Given the description of an element on the screen output the (x, y) to click on. 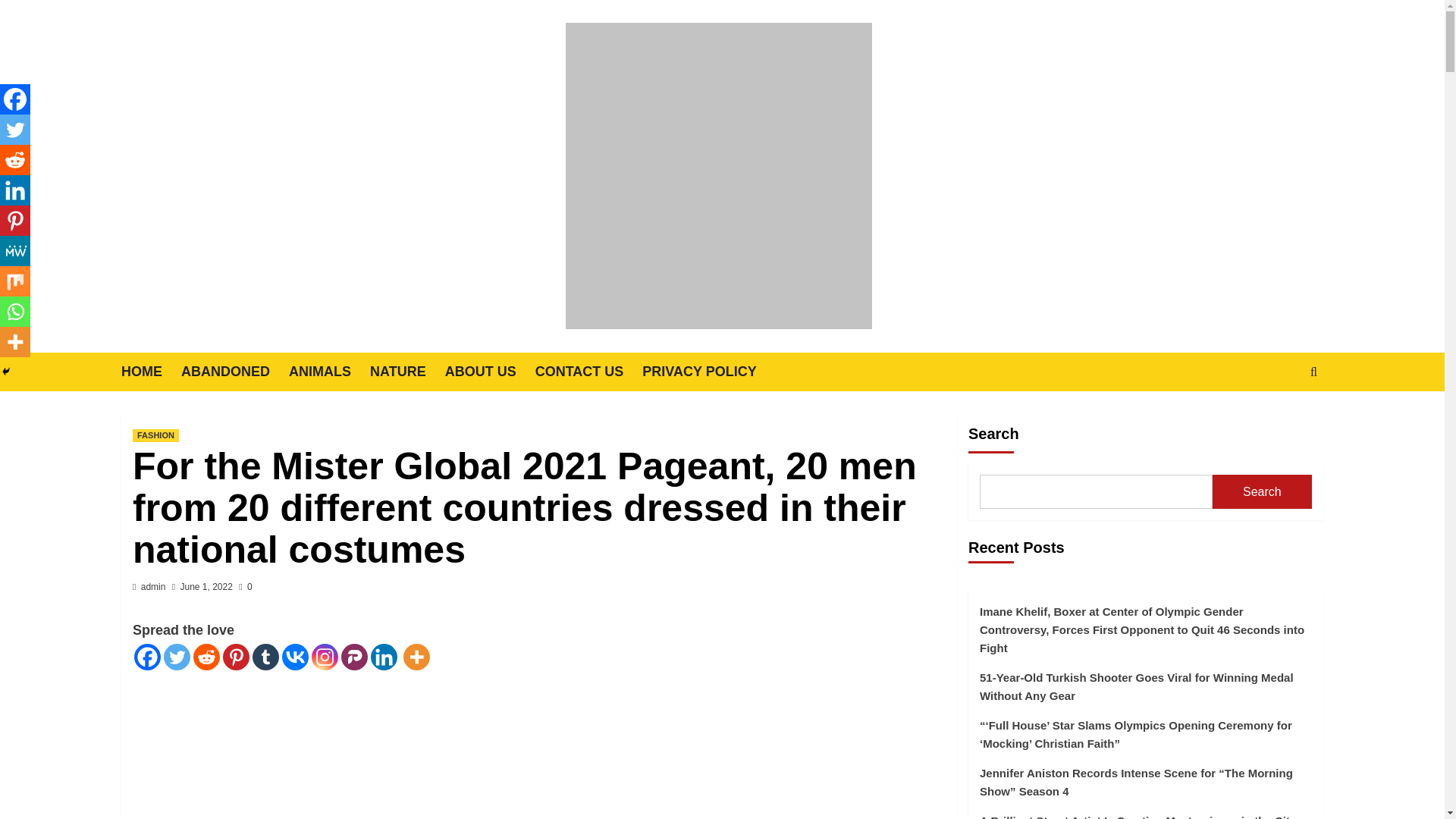
CONTACT US (589, 371)
Parler (354, 656)
Advertisement (538, 745)
NATURE (407, 371)
Linkedin (384, 656)
ABANDONED (234, 371)
Vkontakte (295, 656)
Reddit (206, 656)
June 1, 2022 (206, 586)
FASHION (155, 435)
